Given the description of an element on the screen output the (x, y) to click on. 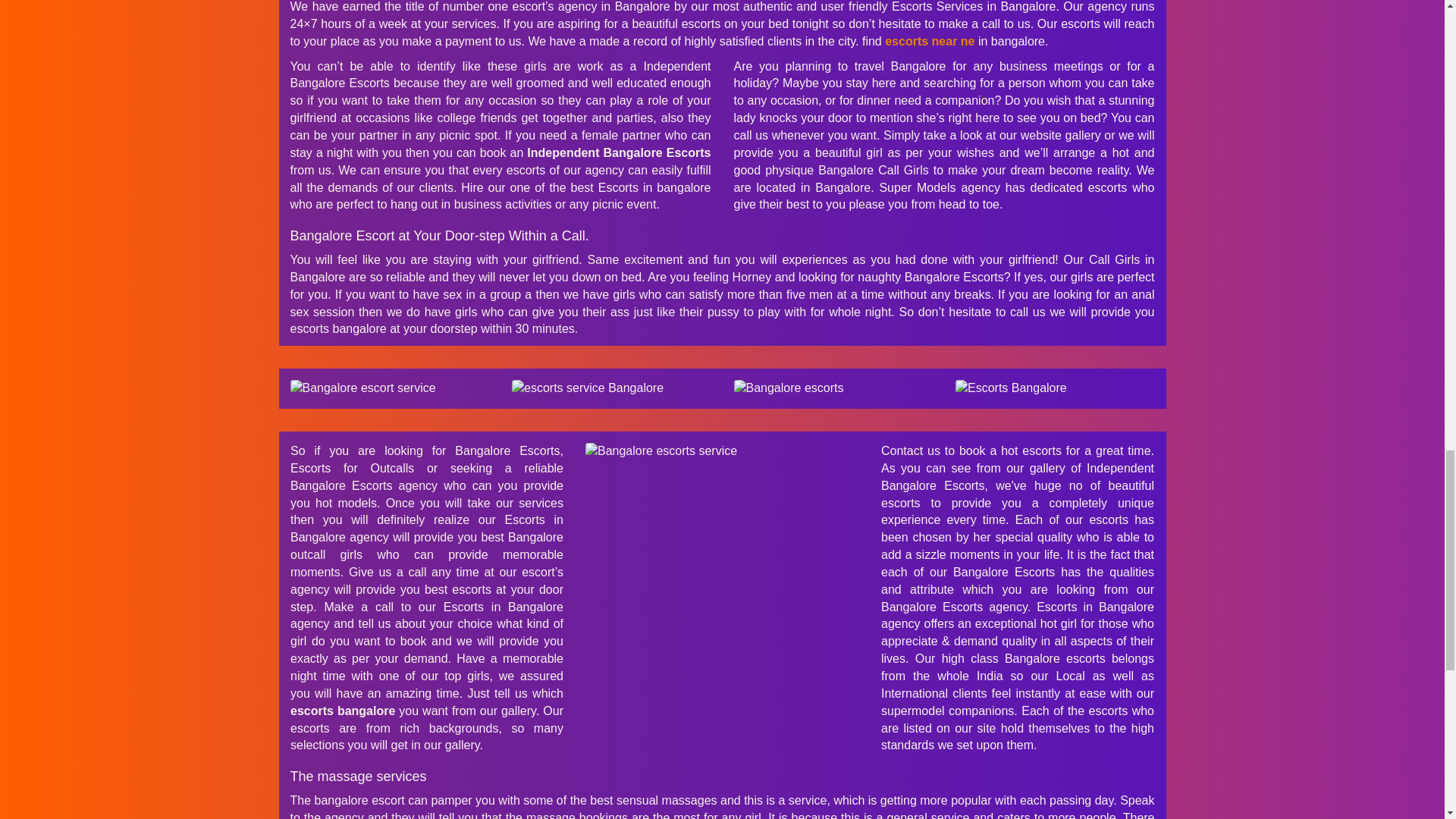
Bangalore escorts (833, 388)
Bangalore escorts (722, 451)
escorts near ne (929, 41)
Bangalore escorts (1054, 388)
Bangalore escorts (611, 388)
Bangalore escorts (389, 388)
